Given the description of an element on the screen output the (x, y) to click on. 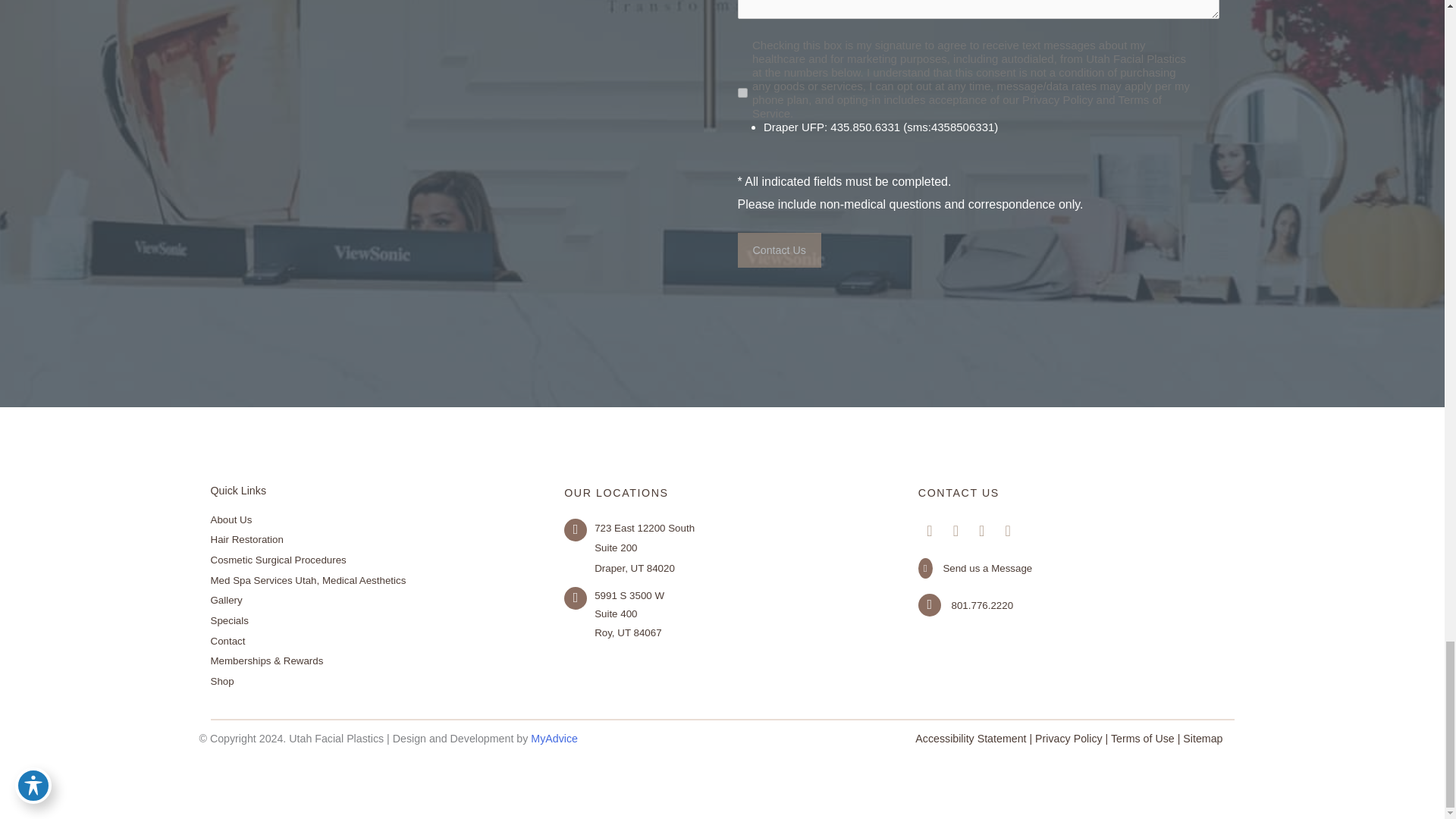
I agree (741, 92)
Contact Us (778, 249)
